Given the description of an element on the screen output the (x, y) to click on. 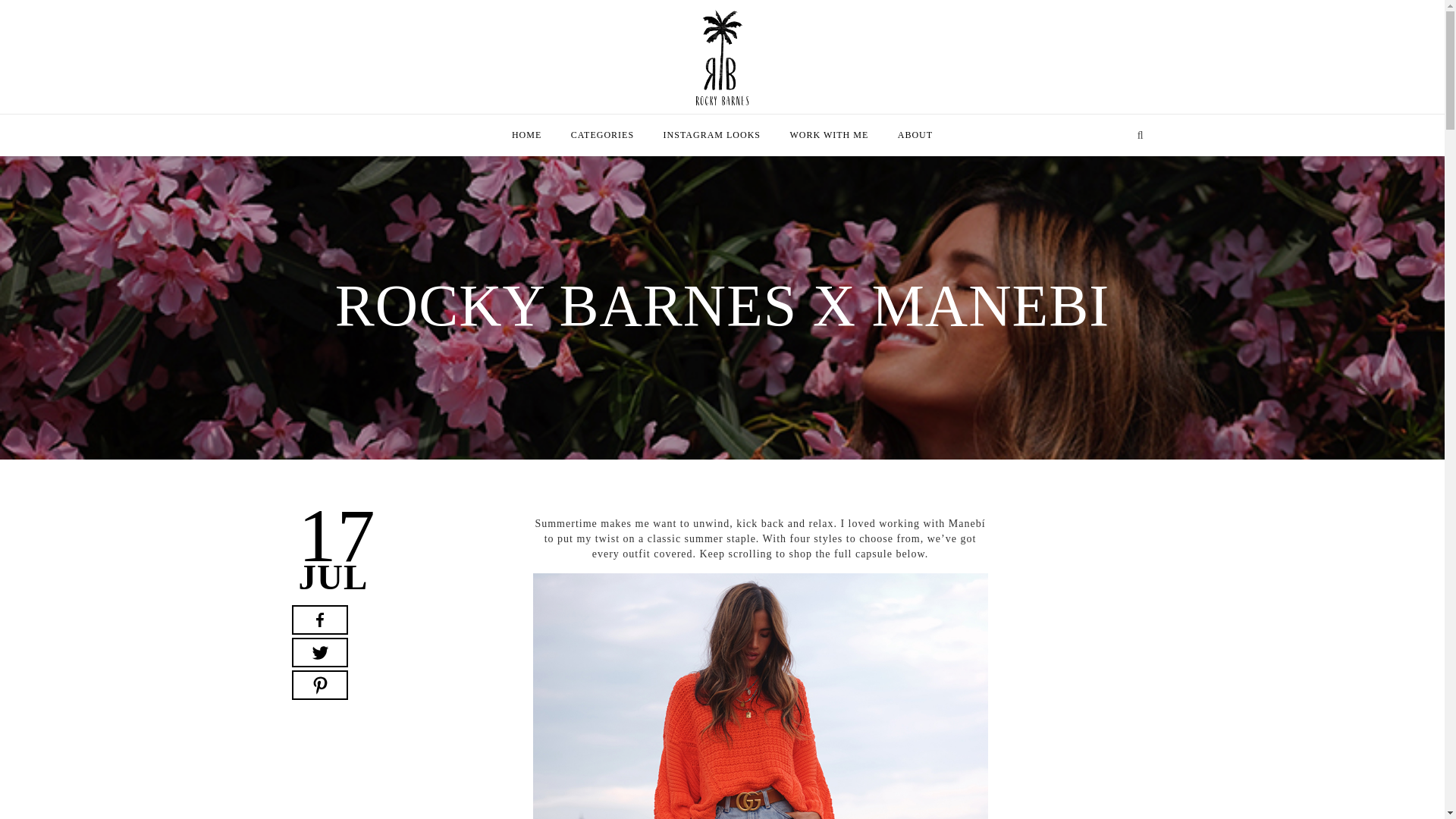
Revolve In Ibiza (330, 713)
ABOUT (914, 135)
Marrakshi Life (326, 555)
HOME (526, 135)
Rocky Takes St. Barths (569, 627)
Rocky Takes Morocco Part II (585, 555)
Facebook (319, 619)
Revolve in Bermuda (340, 677)
Minty Fresh (319, 591)
Twitter (319, 652)
INSTAGRAM LOOKS (711, 135)
Nobu Hotel Los Cabos (568, 591)
CATEGORIES (601, 135)
